Given the description of an element on the screen output the (x, y) to click on. 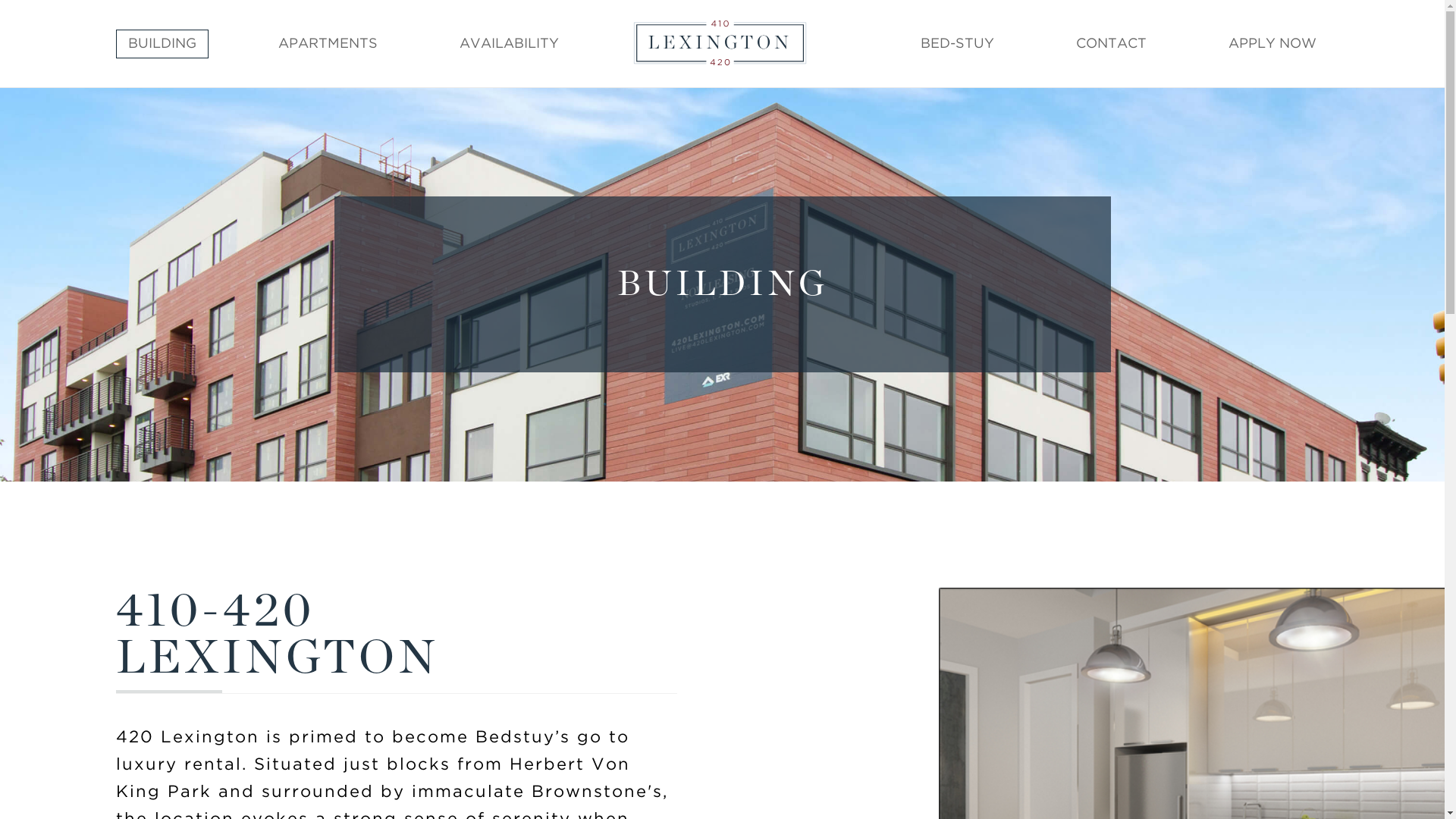
APPLY NOW Element type: text (1272, 43)
BED-STUY Element type: text (957, 43)
APARTMENTS Element type: text (327, 43)
AVAILABILITY Element type: text (509, 43)
BUILDING Element type: text (161, 43)
CONTACT Element type: text (1110, 43)
